Given the description of an element on the screen output the (x, y) to click on. 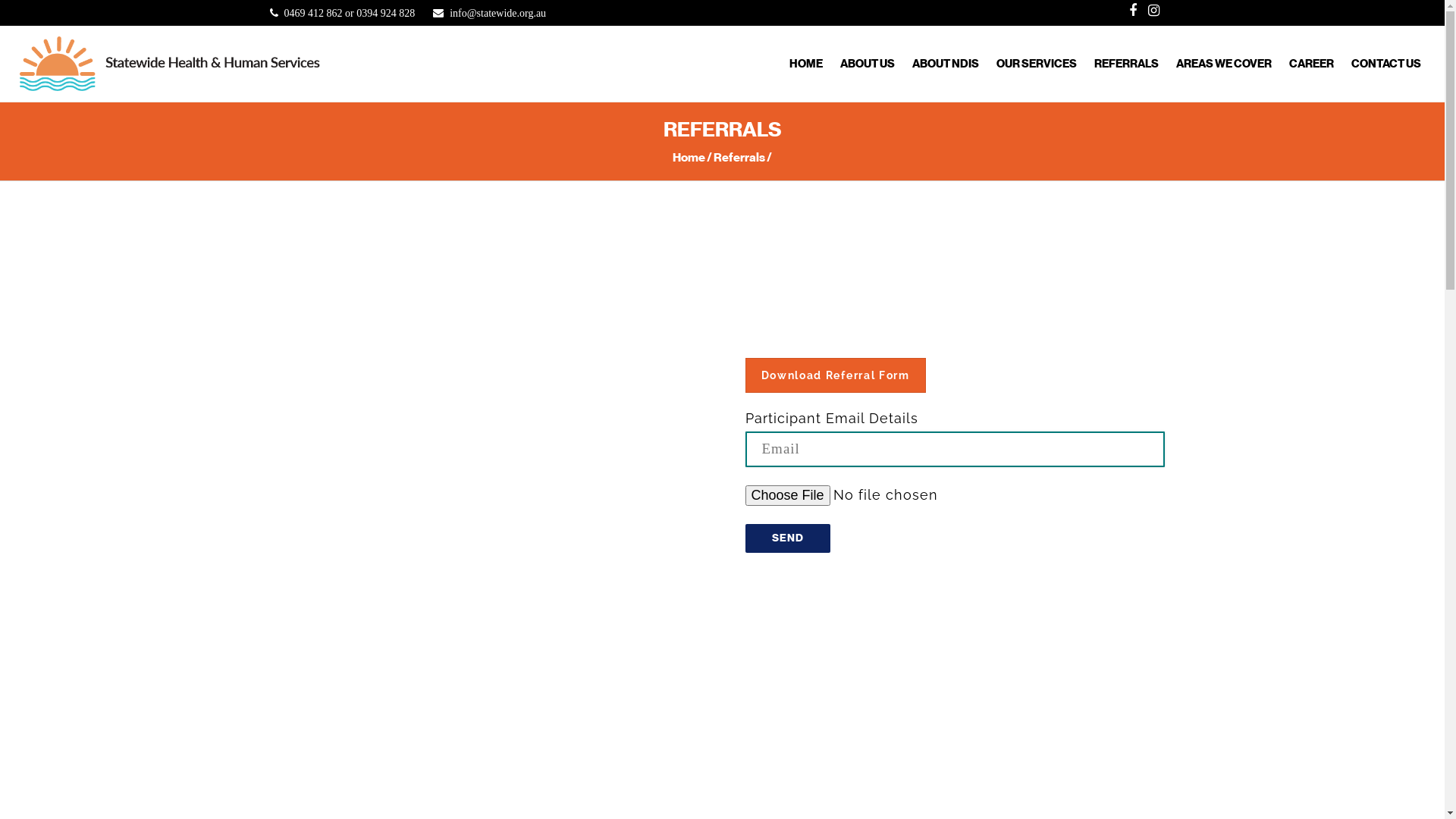
Facebook Element type: hover (1132, 10)
OUR SERVICES Element type: text (1036, 61)
REFERRALS Element type: text (1126, 61)
Download Referral Form Element type: text (834, 374)
info@statewide.org.au Element type: text (497, 12)
Instagram Element type: hover (1154, 10)
CAREER Element type: text (1311, 61)
ABOUT NDIS Element type: text (945, 61)
Send Element type: text (786, 538)
HOME Element type: text (805, 61)
AREAS WE COVER Element type: text (1223, 61)
ABOUT US Element type: text (867, 61)
CONTACT US Element type: text (1385, 61)
Home Element type: text (688, 157)
